Given the description of an element on the screen output the (x, y) to click on. 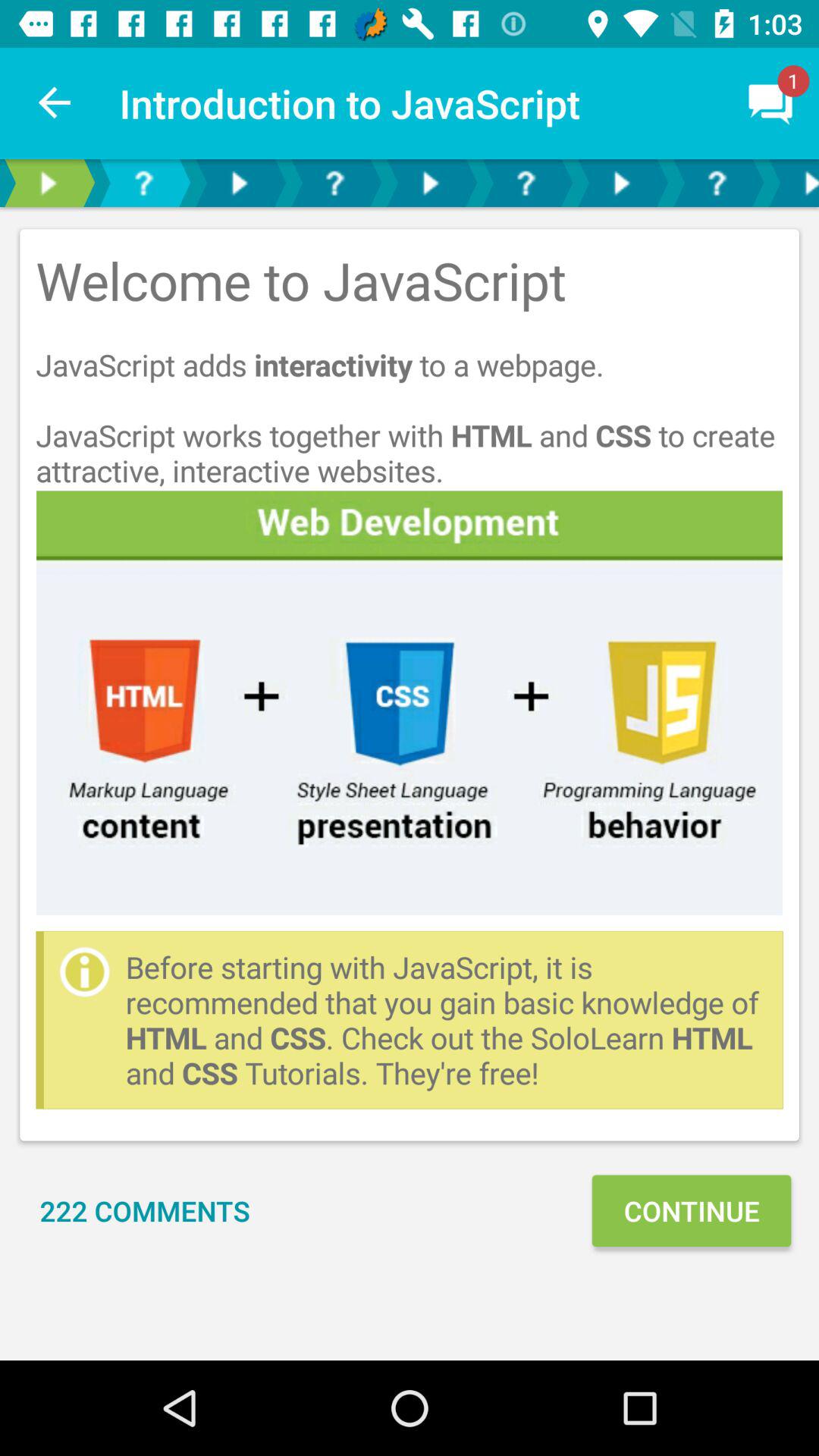
next button (620, 183)
